Given the description of an element on the screen output the (x, y) to click on. 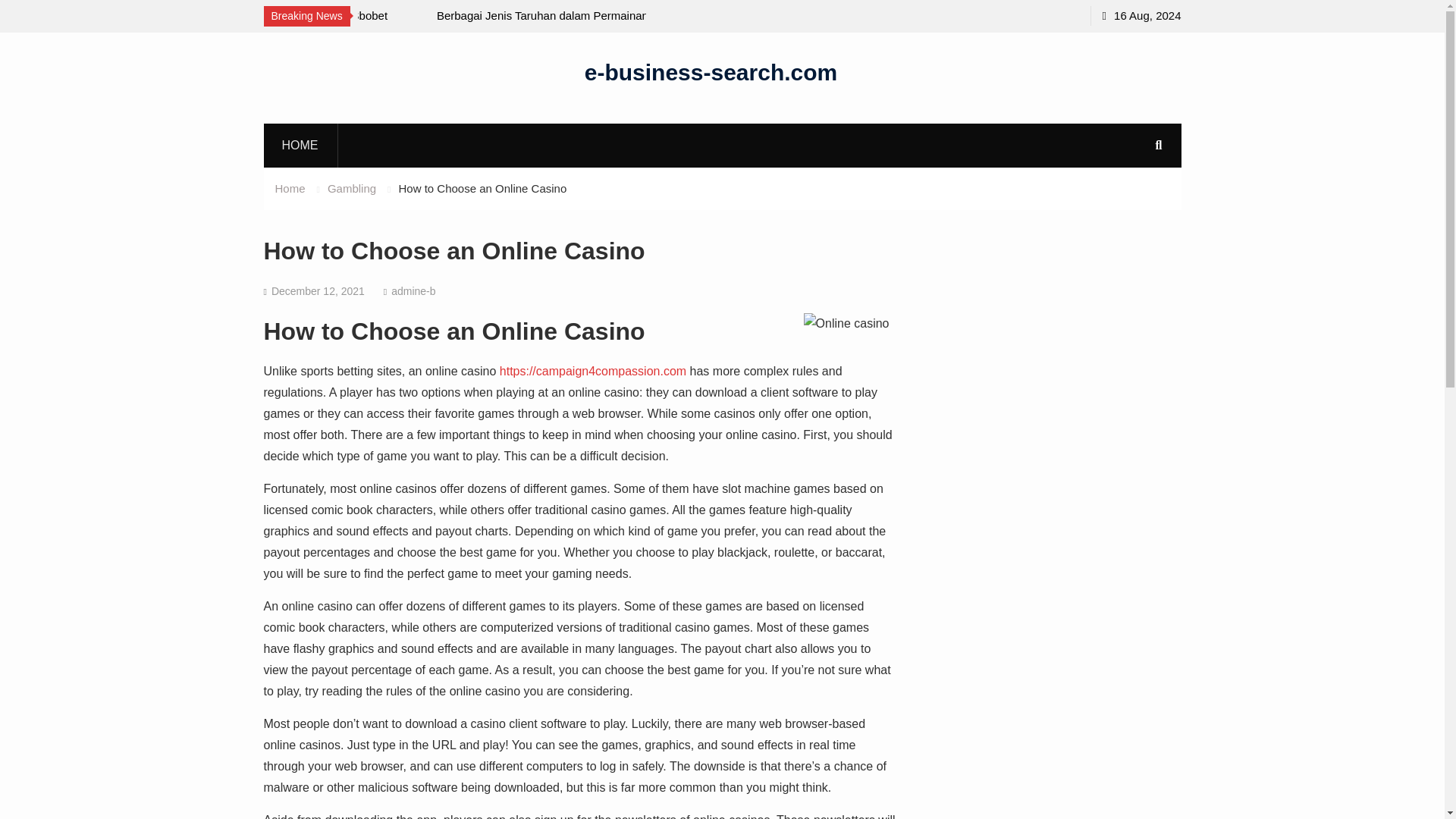
Berbagai Jenis Taruhan dalam Permainan Baccarat Online (573, 25)
Panduan Praktis untuk Mengakses Link Sbobet Alternatif (285, 25)
Home (289, 187)
e-business-search.com (711, 71)
December 12, 2021 (317, 291)
HOME (299, 144)
admine-b (413, 291)
Gambling (351, 187)
